Given the description of an element on the screen output the (x, y) to click on. 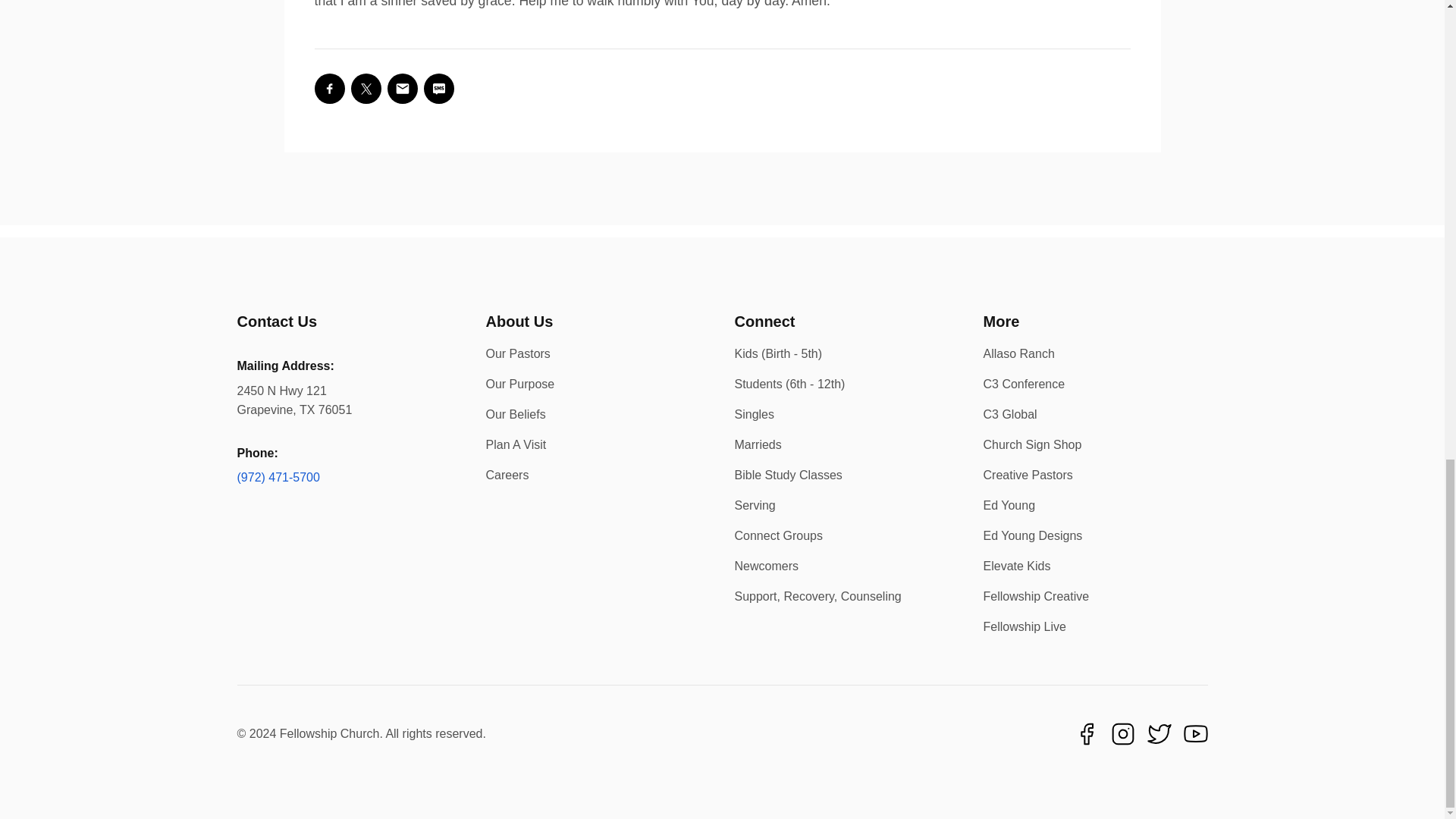
Newcomers (765, 565)
Our Pastors (517, 353)
Ed Young (1008, 504)
C3 Global (1009, 413)
Elevate Kids (1015, 565)
Connect Groups (777, 535)
Allaso Ranch (1018, 353)
Marrieds (756, 444)
Our Purpose (519, 383)
Careers (506, 474)
Plan A Visit (515, 444)
Bible Study Classes (787, 474)
Ed Young Designs (1031, 535)
Church Sign Shop (1031, 444)
Support, Recovery, Counseling (817, 595)
